Given the description of an element on the screen output the (x, y) to click on. 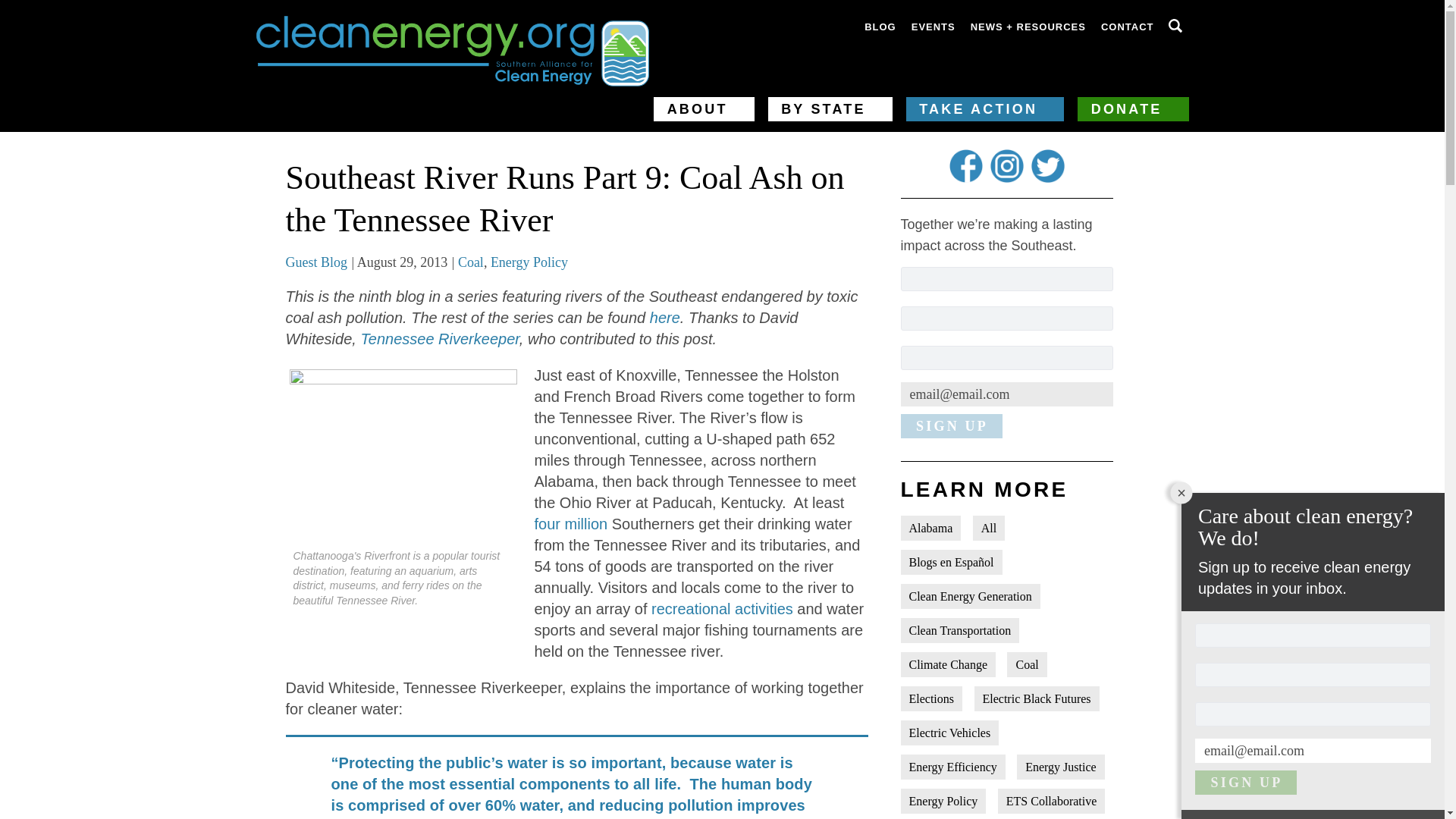
BY STATE (830, 109)
BLOG (880, 26)
Sign Up (1246, 782)
TAKE ACTION (984, 109)
CONTACT (1127, 26)
Postal Code (1007, 357)
Postal Code (1313, 713)
DONATE (1132, 109)
ABOUT (703, 109)
EVENTS (933, 26)
Sign Up (952, 426)
